Given the description of an element on the screen output the (x, y) to click on. 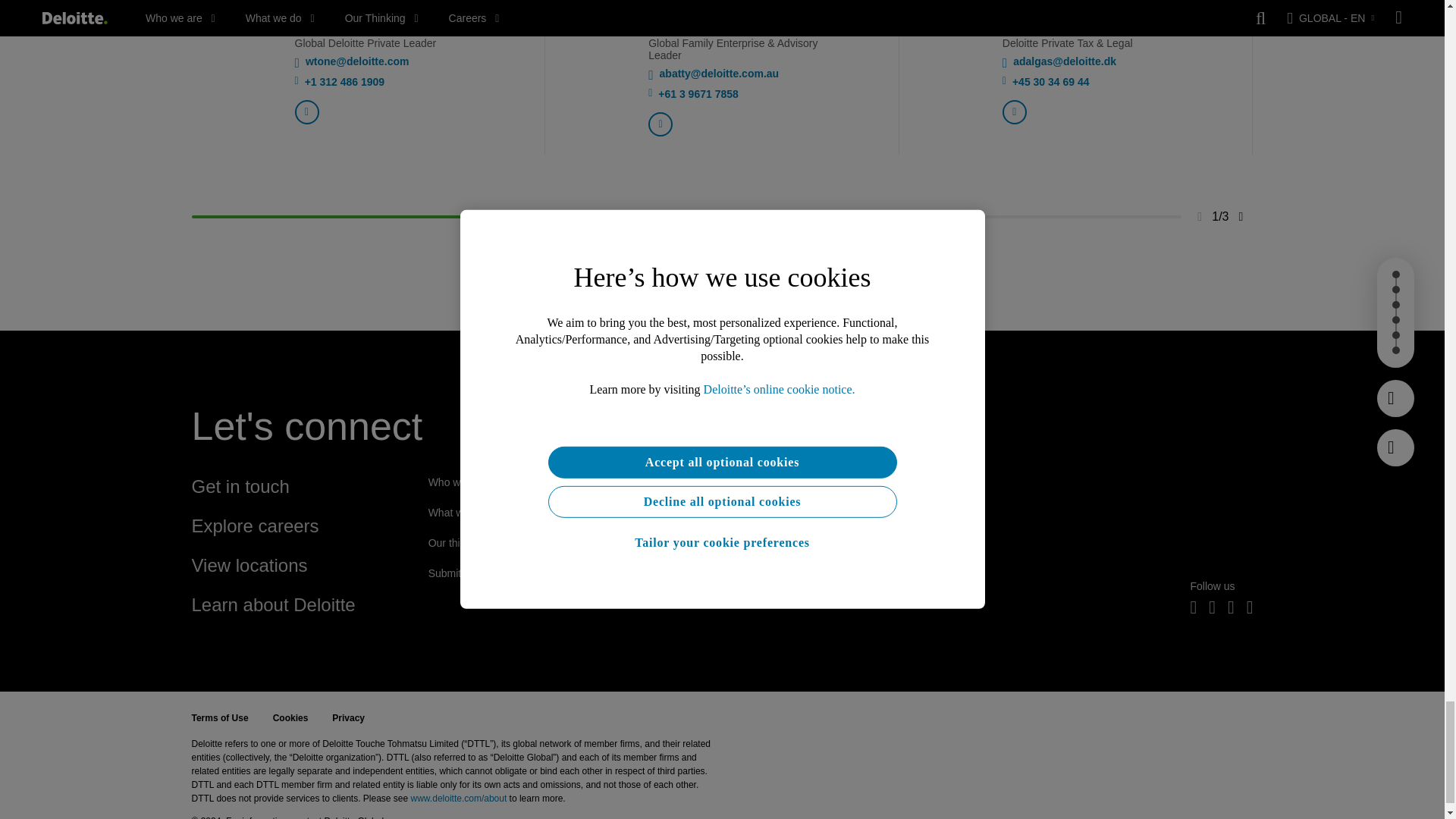
connect via linkedin (306, 111)
connect via linkedin (659, 124)
connect via linkedin (1014, 111)
